Given the description of an element on the screen output the (x, y) to click on. 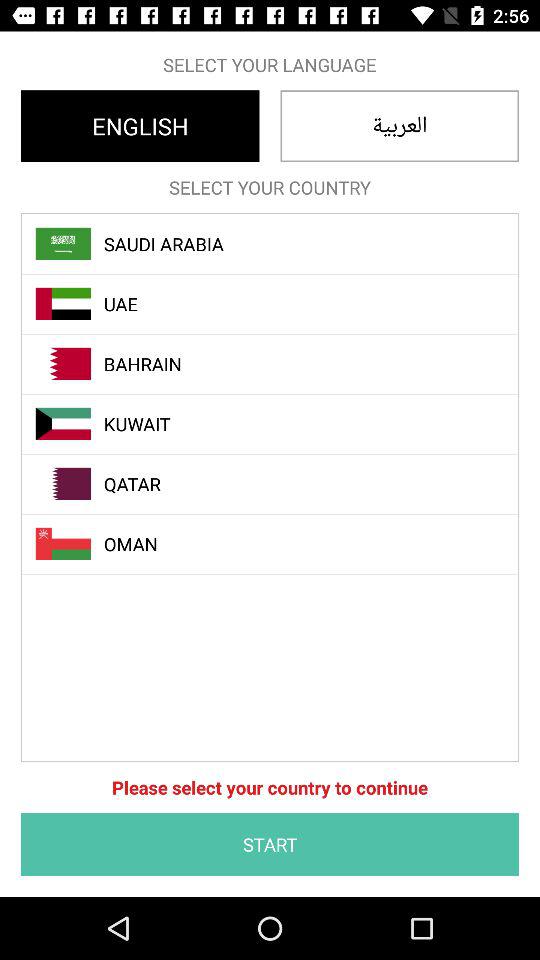
swipe to start (270, 844)
